Given the description of an element on the screen output the (x, y) to click on. 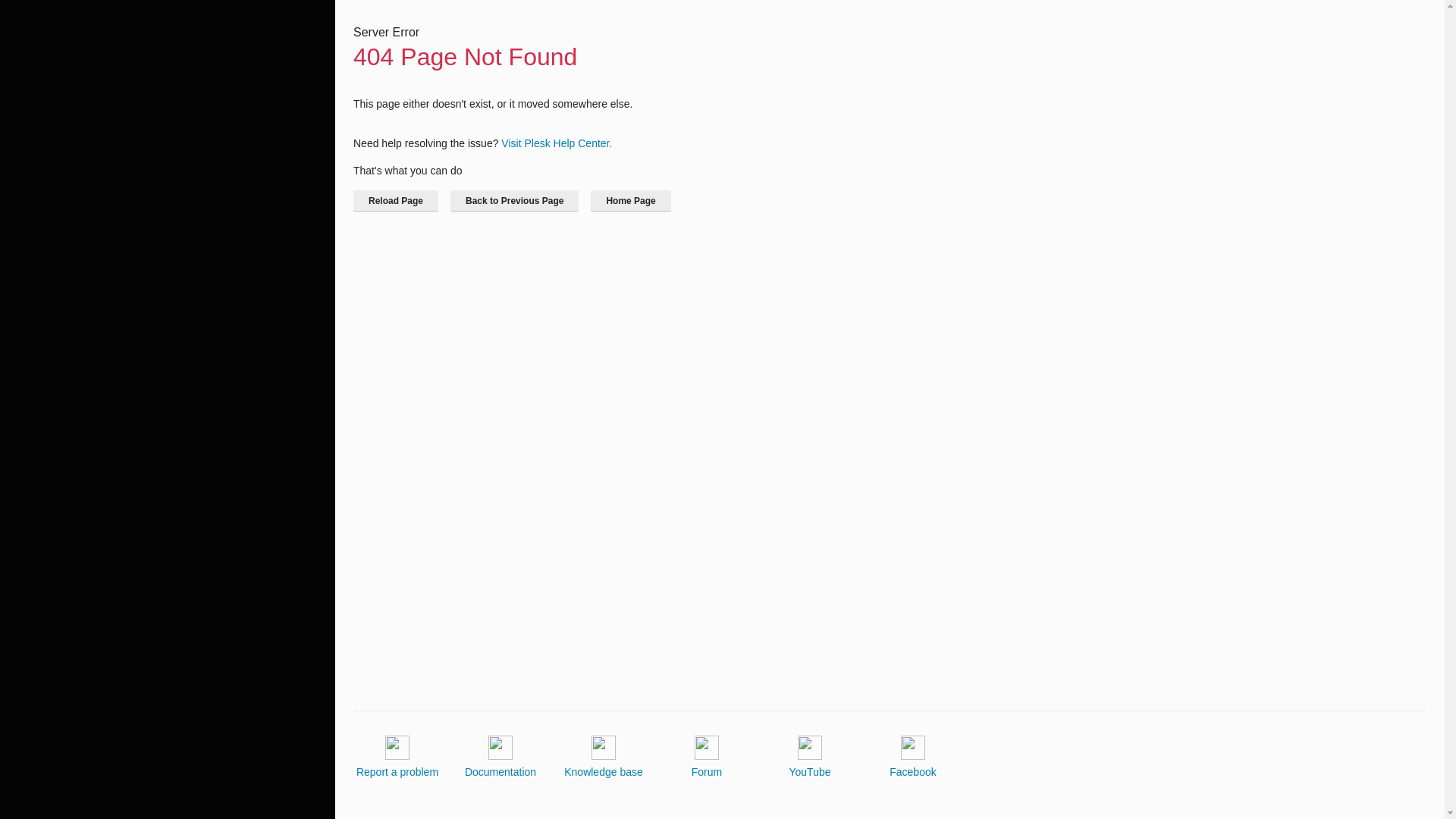
Back to Previous Page (513, 200)
Visit Plesk Help Center. (555, 143)
Reload Page (395, 200)
Knowledge base (603, 757)
YouTube (809, 757)
Report a problem (397, 757)
Forum (706, 757)
Facebook (912, 757)
Documentation (500, 757)
Home Page (630, 200)
